Given the description of an element on the screen output the (x, y) to click on. 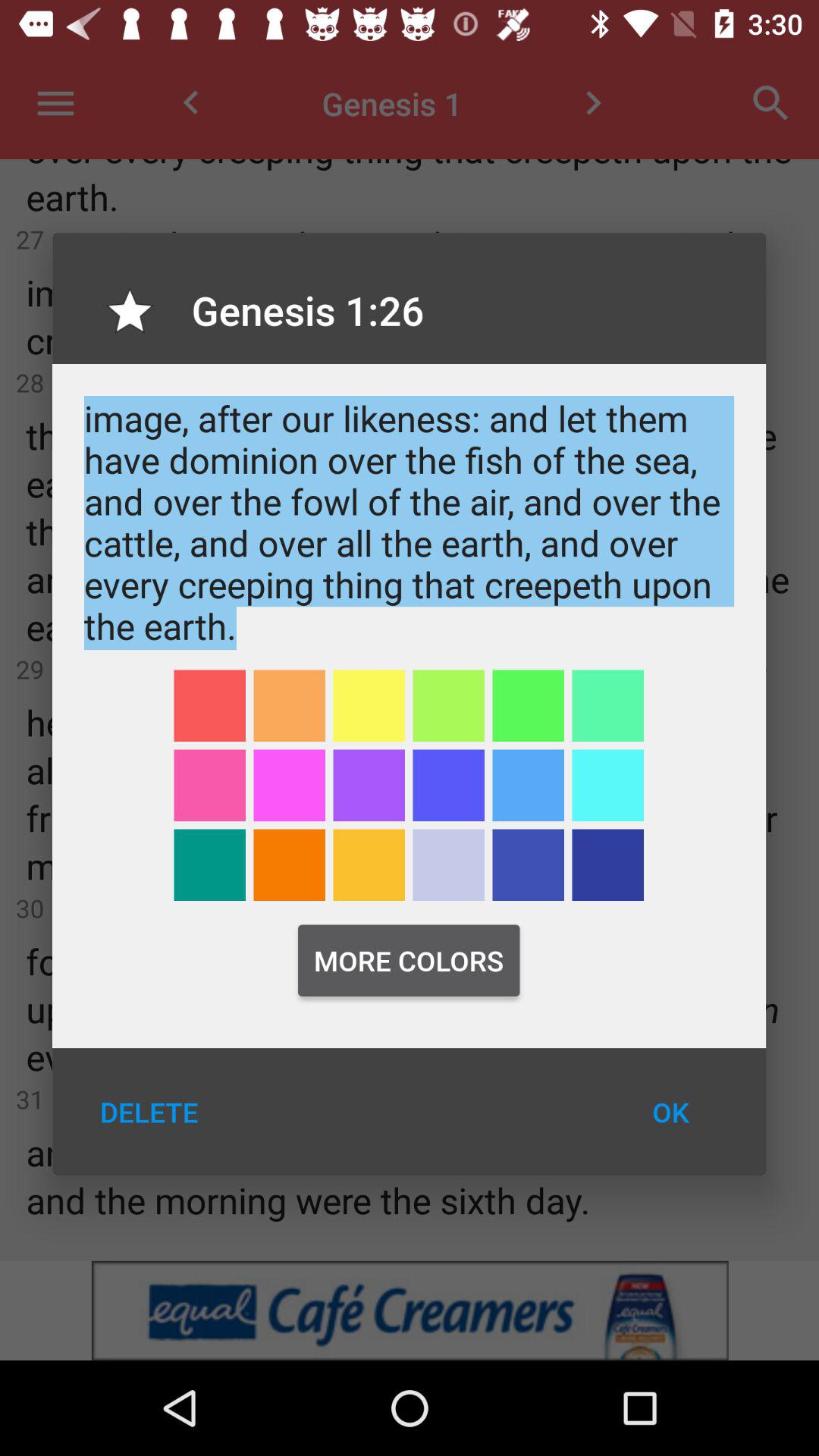
select color purple (448, 785)
